Given the description of an element on the screen output the (x, y) to click on. 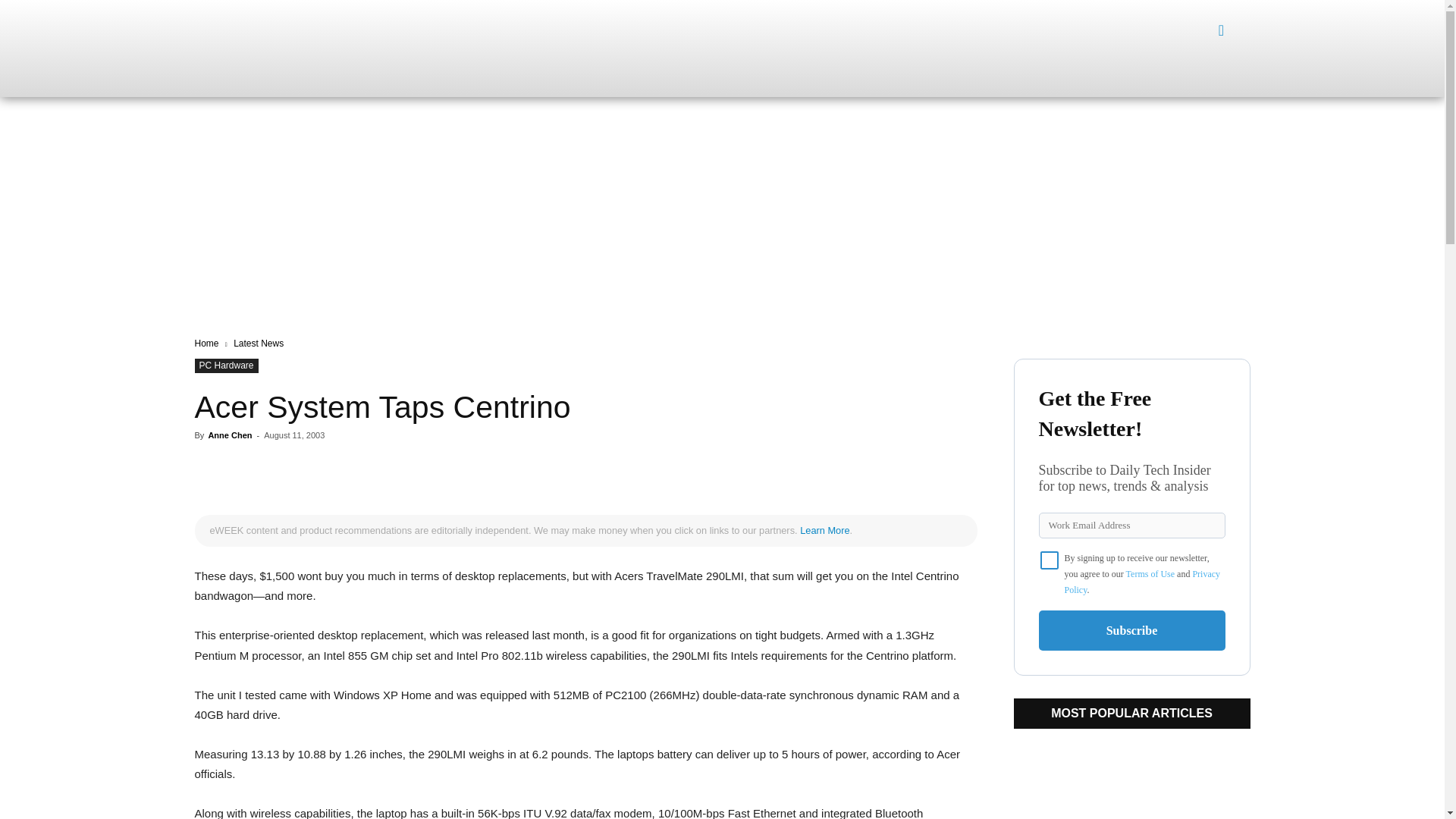
on (1049, 560)
